Given the description of an element on the screen output the (x, y) to click on. 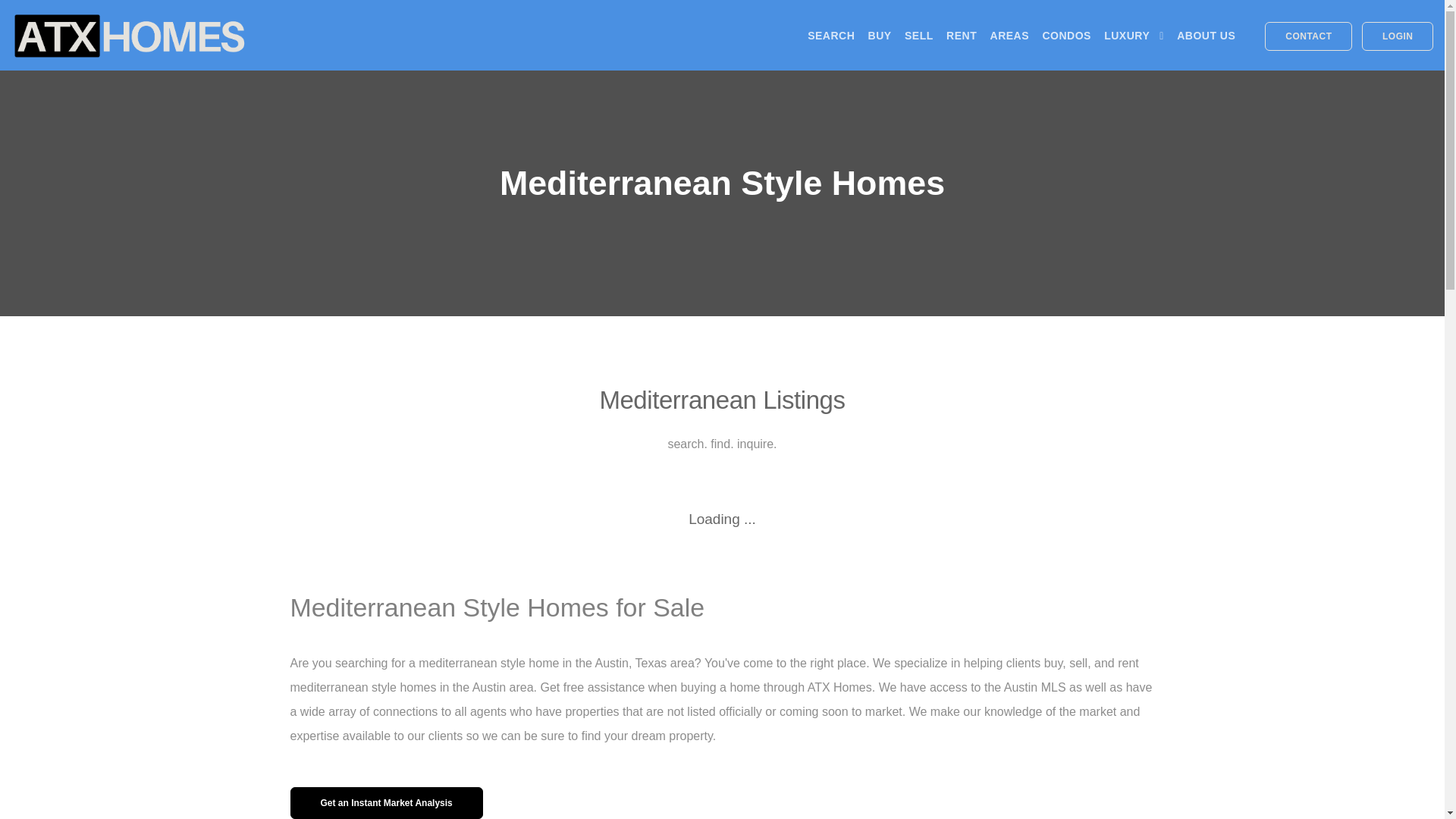
Get an Instant Market Analysis (385, 803)
CONTACT (1308, 36)
SELL (918, 35)
LUXURY (1133, 35)
RENT (961, 35)
BUY (879, 35)
SEARCH (831, 35)
AREAS (1009, 35)
ABOUT US (1205, 35)
CONDOS (1066, 35)
